Given the description of an element on the screen output the (x, y) to click on. 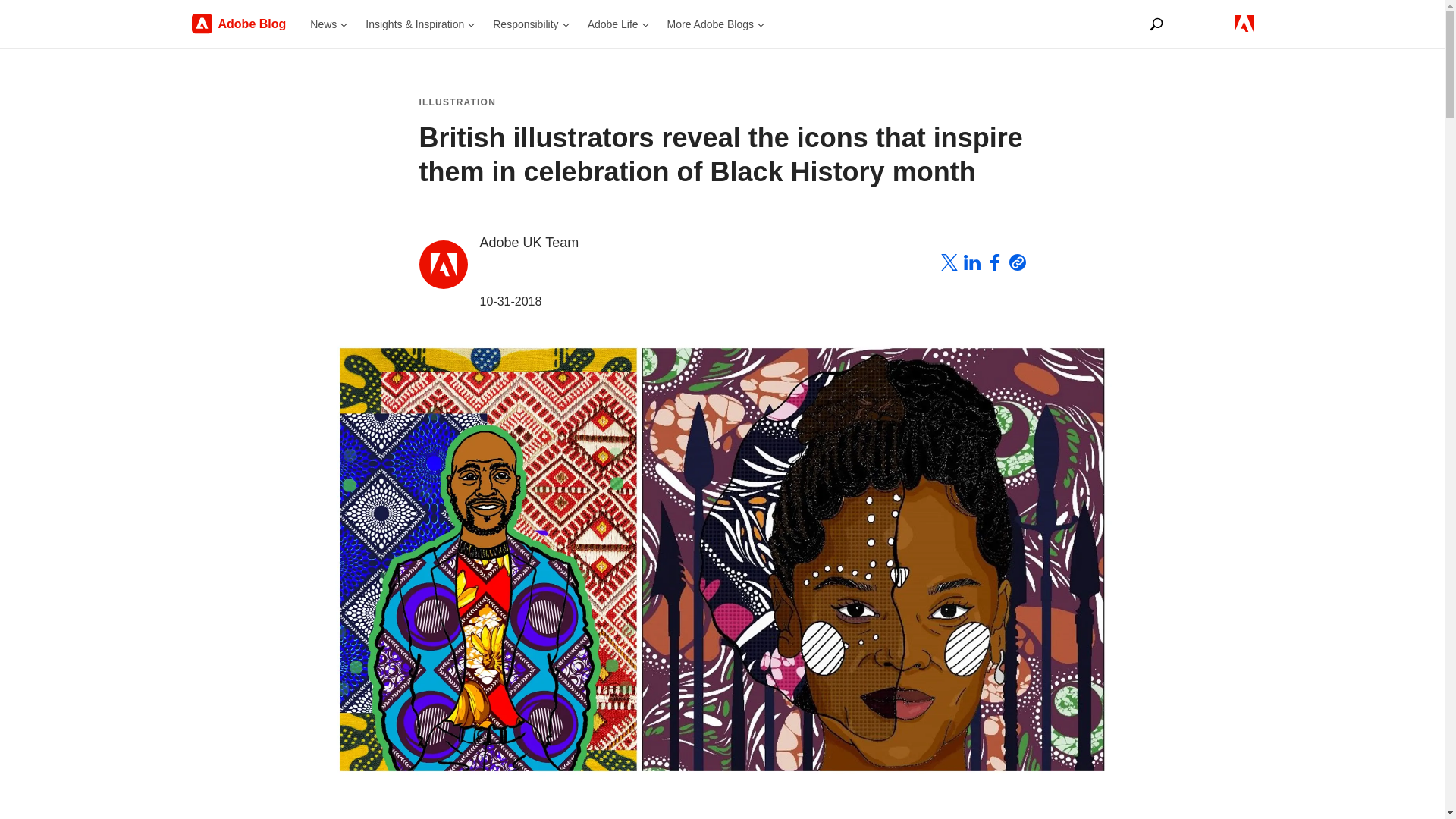
Adobe Life (618, 23)
X X Logo (948, 264)
Copy Copy to Clipboard (1017, 262)
Facebook Facebook Logo (994, 264)
Adobe Blog (245, 23)
Copy Copy to Clipboard (1017, 264)
X X Logo (948, 262)
LinkedIn LinkedIn Logo (970, 262)
ILLUSTRATION (457, 102)
Facebook Facebook Logo (994, 262)
More Adobe Blogs (715, 23)
Responsibility (530, 23)
LinkedIn LinkedIn Logo (970, 264)
News (328, 23)
